Given the description of an element on the screen output the (x, y) to click on. 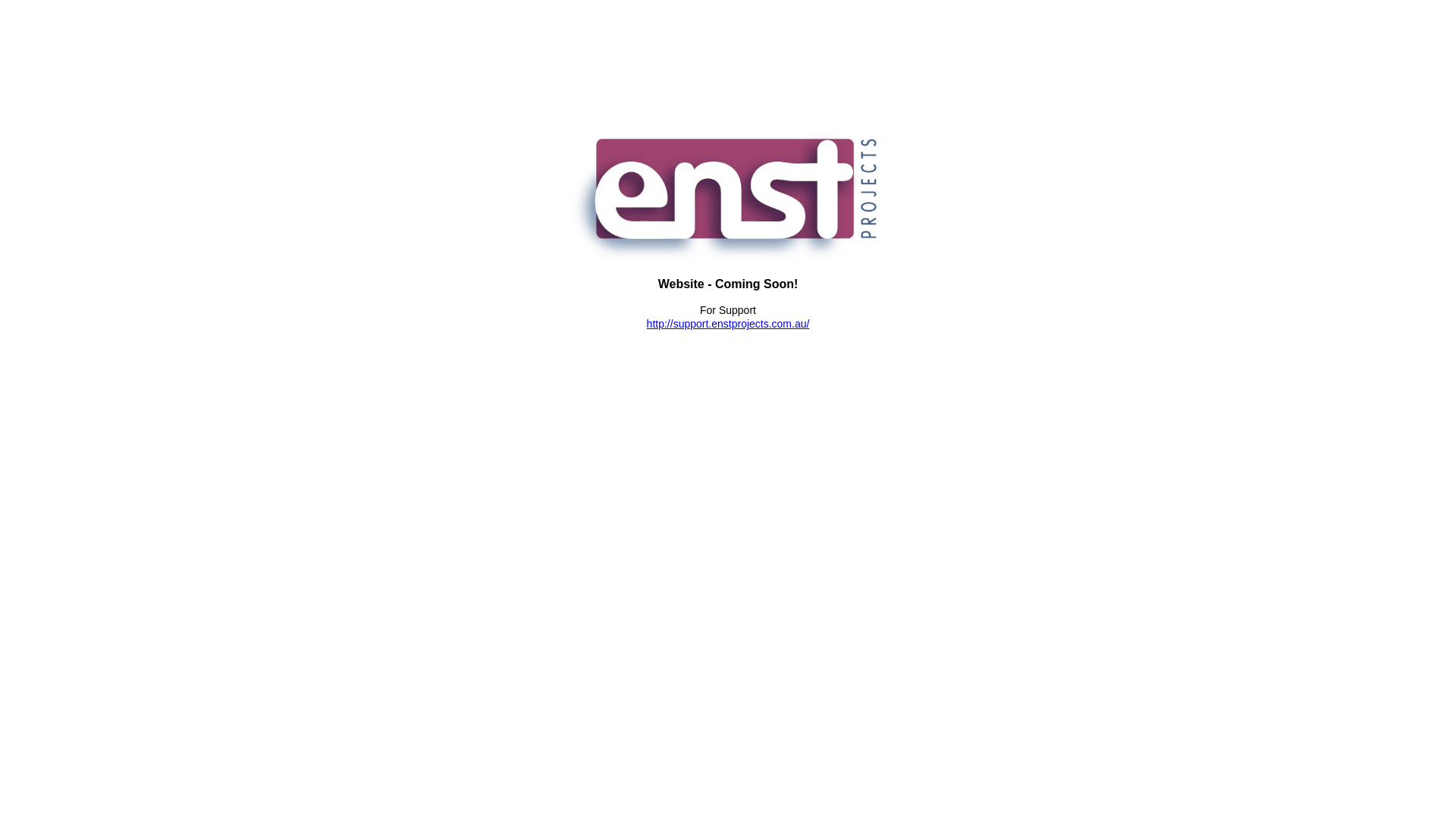
http://support.enstprojects.com.au/ Element type: text (727, 323)
